Given the description of an element on the screen output the (x, y) to click on. 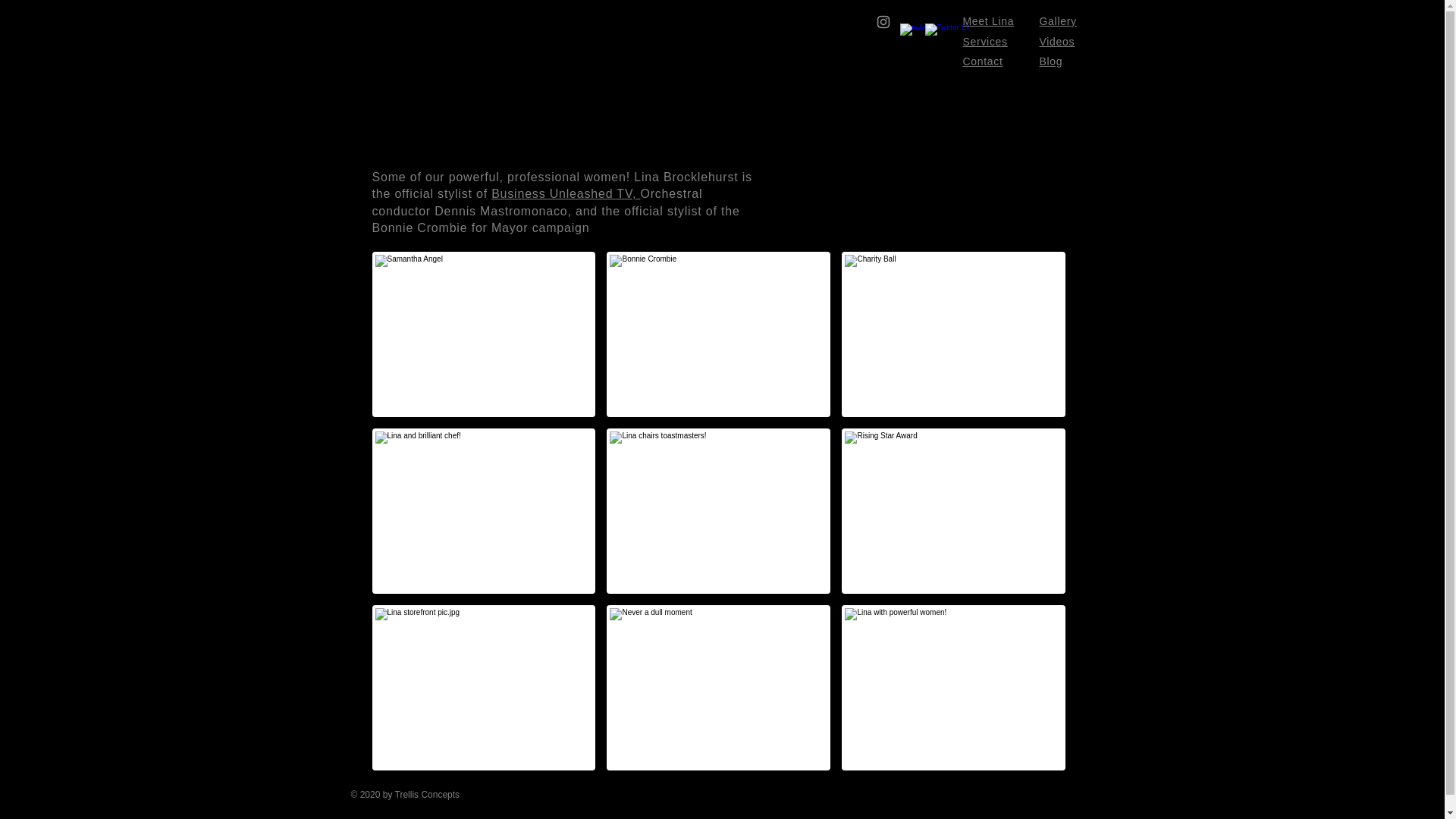
Facebook Like (994, 803)
Services (984, 41)
Meet Lina (988, 21)
Videos (1056, 41)
Contact (982, 61)
Blog (1050, 61)
Business Unleashed TV, (566, 193)
Gallery (1057, 21)
